Given the description of an element on the screen output the (x, y) to click on. 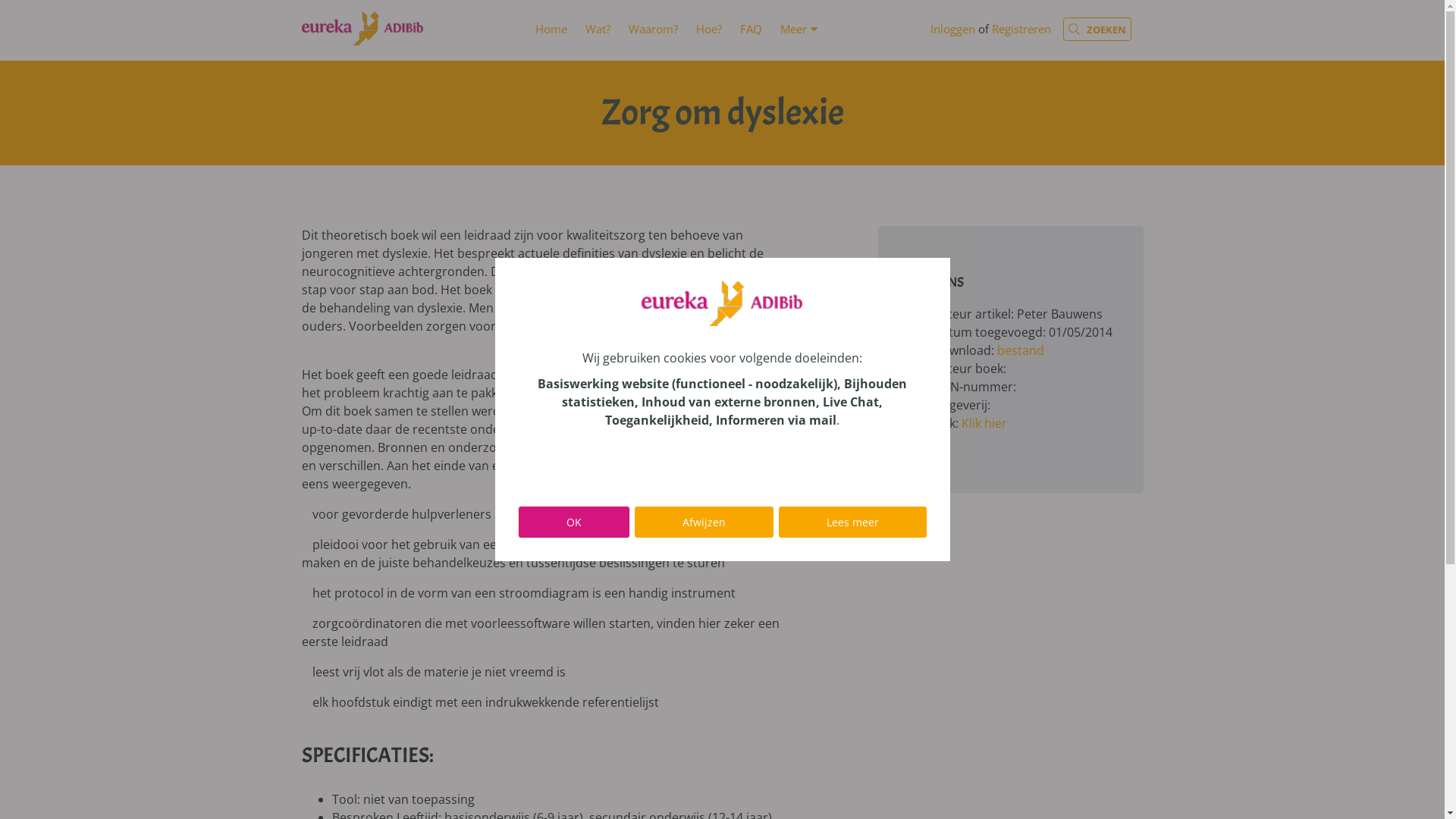
Lees meer Element type: text (852, 521)
Home Element type: text (551, 28)
Waarom? Element type: text (652, 28)
Hoe? Element type: text (708, 28)
Meer Element type: text (793, 28)
Registreren Element type: text (1021, 28)
Inloggen Element type: text (951, 28)
Wat? Element type: text (597, 28)
Klik hier Element type: text (984, 422)
ZOEKEN Element type: text (1097, 28)
Afwijzen Element type: text (703, 521)
FAQ Element type: text (751, 28)
bestand Element type: text (1019, 350)
OK Element type: text (573, 521)
